Given the description of an element on the screen output the (x, y) to click on. 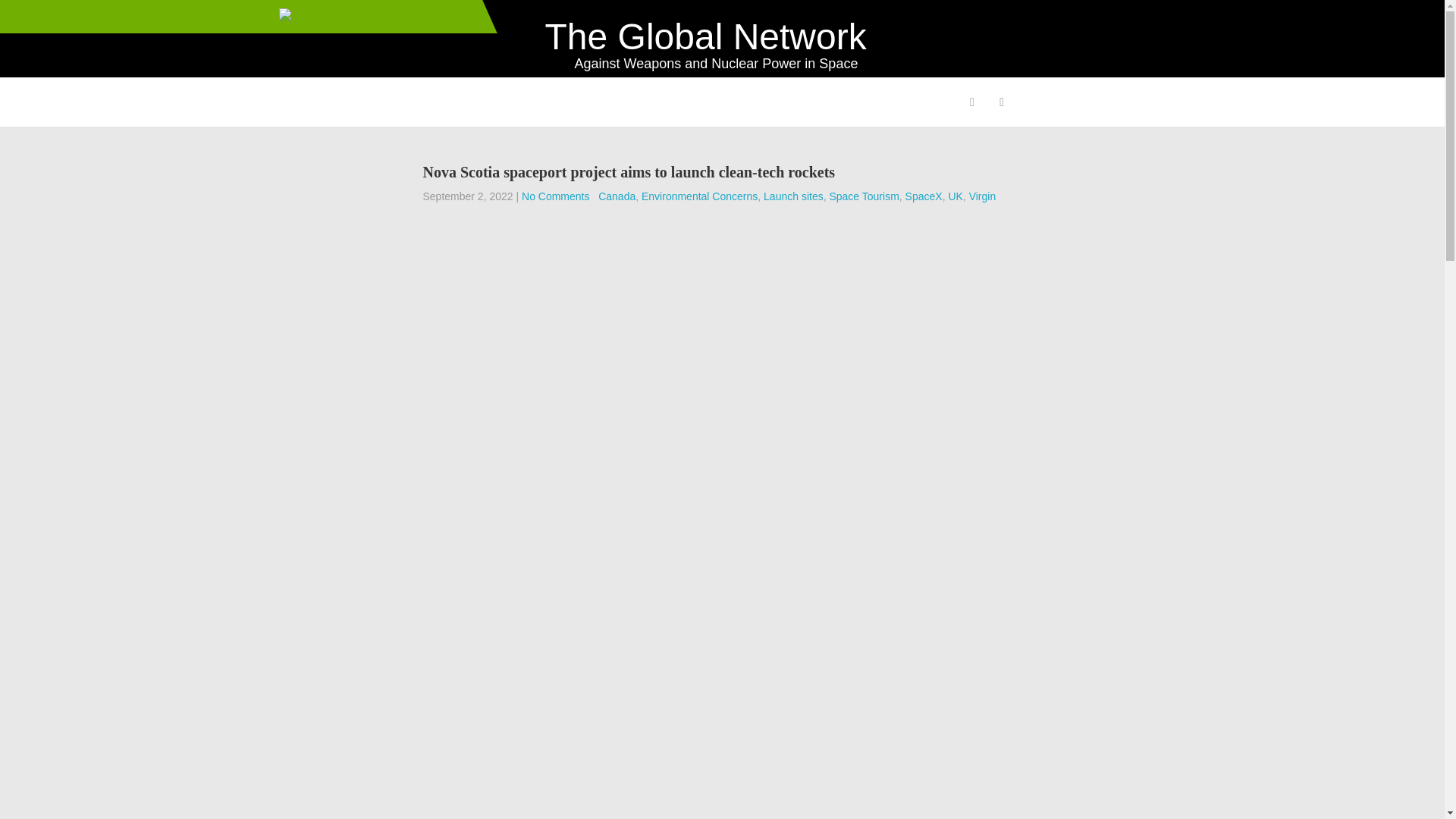
View all posts in Space Tourism (863, 196)
Resources (737, 101)
View all posts in Environmental Concerns (699, 196)
fab fa-facebook-f (971, 103)
About Us (315, 101)
View all posts in SpaceX (923, 196)
Events (667, 101)
View all posts in Canada (616, 196)
View all posts in Launch sites (793, 196)
View all posts in Virgin (982, 196)
Contact Us (818, 101)
fab fa-youtube (1001, 103)
Top of Page (1382, 786)
View all posts in UK (954, 196)
Donate (892, 101)
